Given the description of an element on the screen output the (x, y) to click on. 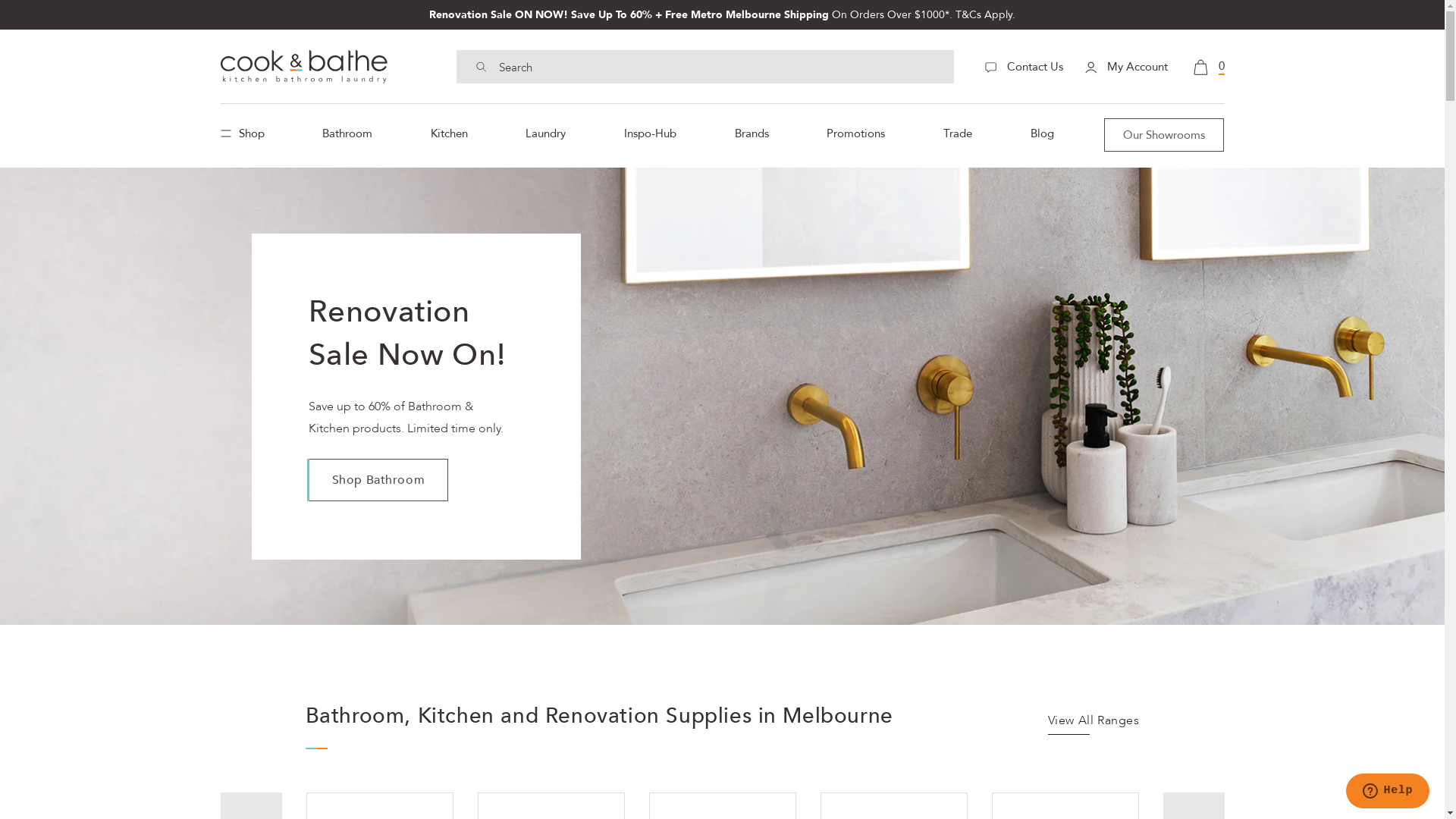
Trade Element type: text (957, 133)
Shop Element type: text (245, 133)
View All Ranges Element type: text (1093, 724)
Brands Element type: text (751, 133)
Opens a widget where you can chat to one of our agents Element type: hover (1387, 792)
0 Element type: text (1208, 65)
Inspo-Hub Element type: text (650, 133)
Contact Us Element type: text (1023, 66)
Laundry Element type: text (545, 133)
My Account Element type: text (1125, 66)
Shop Bathroom Element type: text (377, 479)
Kitchen Element type: text (449, 133)
Bathroom Element type: text (346, 133)
Blog Element type: text (1041, 133)
Promotions Element type: text (855, 133)
Our Showrooms Element type: text (1163, 134)
